Given the description of an element on the screen output the (x, y) to click on. 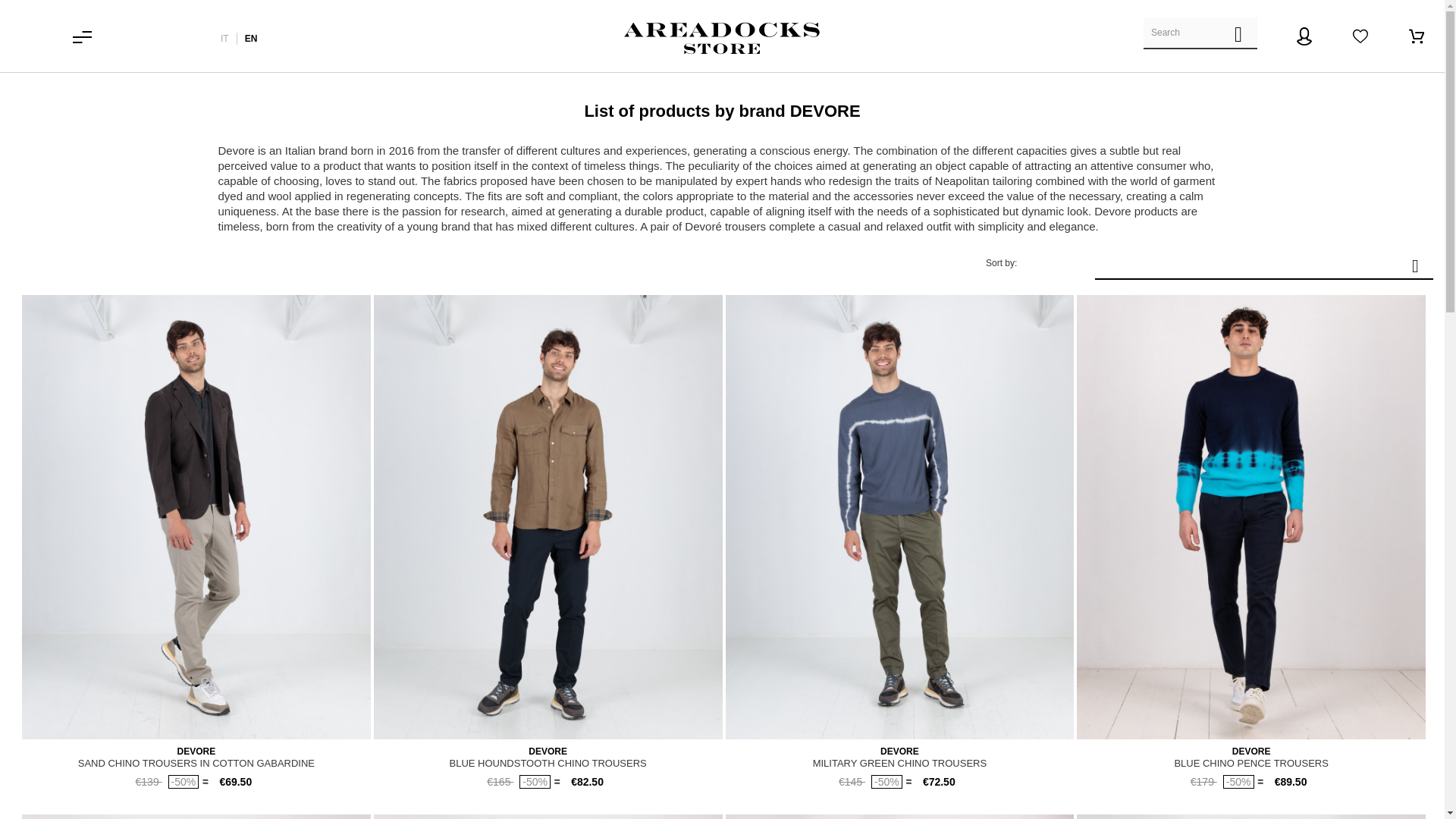
IT (223, 38)
DEVORE (899, 751)
DEVORE (547, 751)
DEVORE (196, 751)
DEVORE (1251, 751)
EN (250, 38)
